Given the description of an element on the screen output the (x, y) to click on. 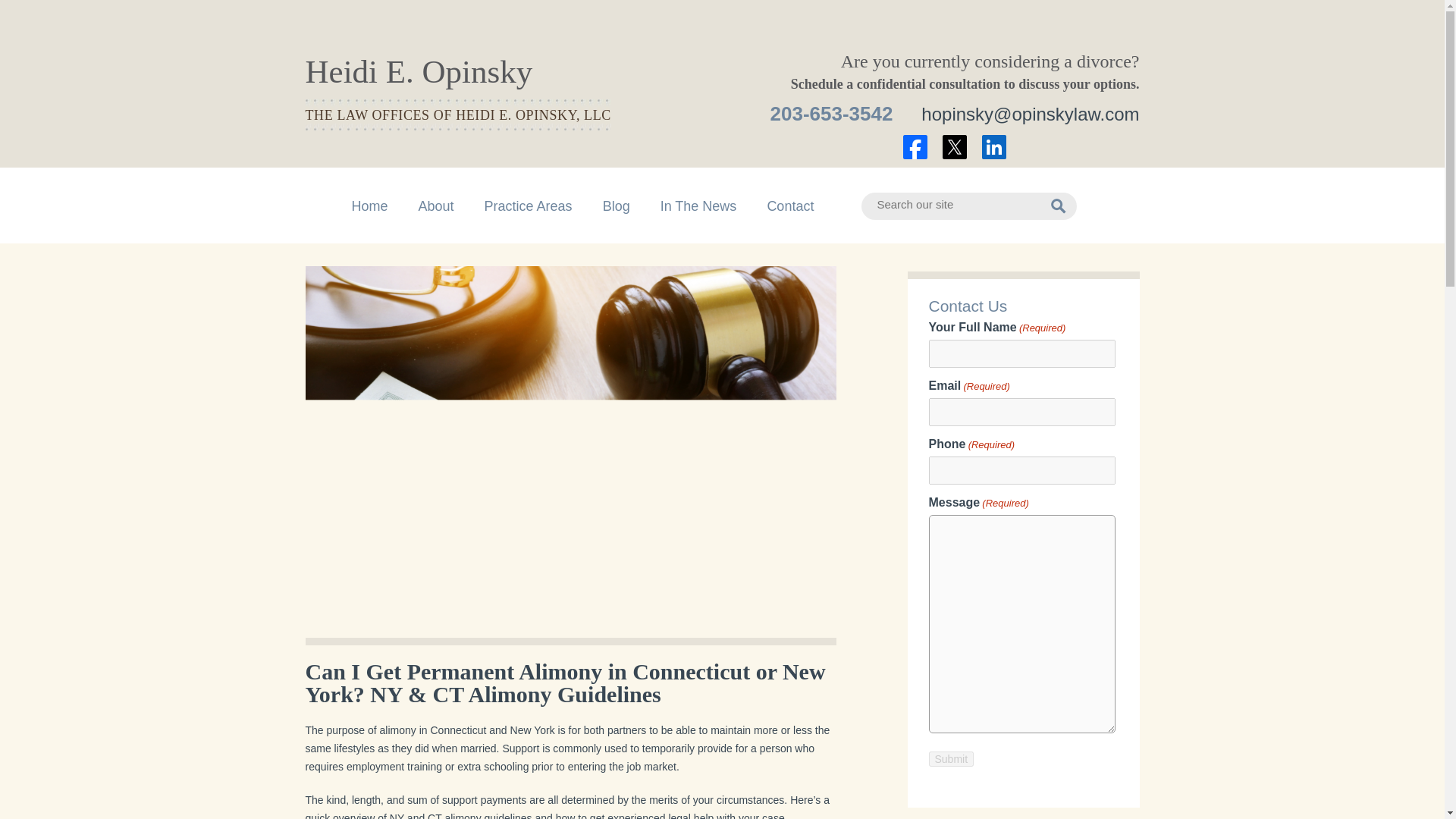
Home (370, 206)
Heidi E. Opinsky (418, 71)
Practice Areas (528, 206)
In The News (698, 206)
About (436, 206)
Blog (616, 206)
Heidi E. Opinsky (418, 71)
Submit (951, 758)
